Given the description of an element on the screen output the (x, y) to click on. 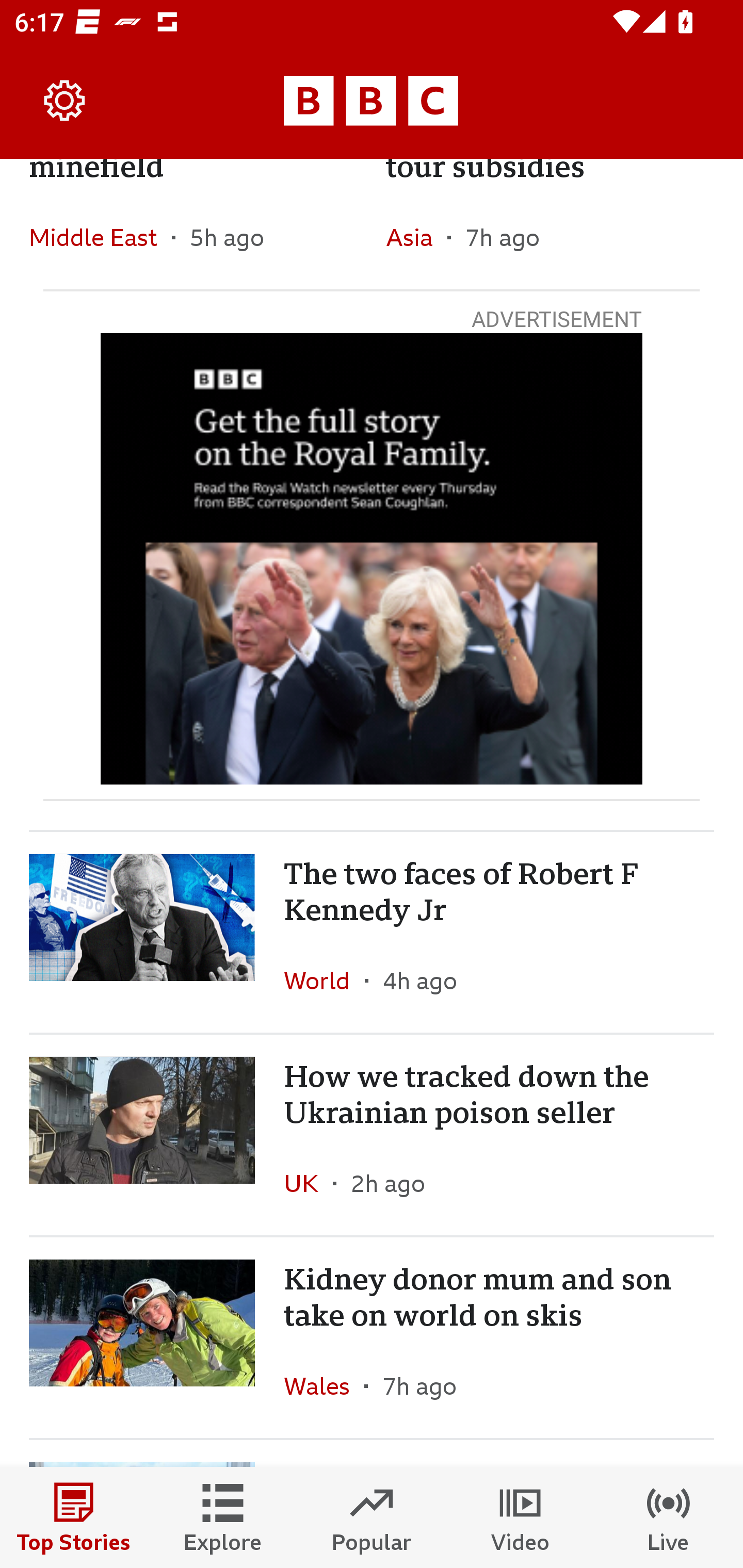
Settings (64, 100)
Middle East In the section Middle East (99, 237)
Asia In the section Asia (416, 237)
World In the section World (323, 980)
UK In the section UK (307, 1182)
Wales In the section Wales (323, 1385)
Explore (222, 1517)
Popular (371, 1517)
Video (519, 1517)
Live (668, 1517)
